Given the description of an element on the screen output the (x, y) to click on. 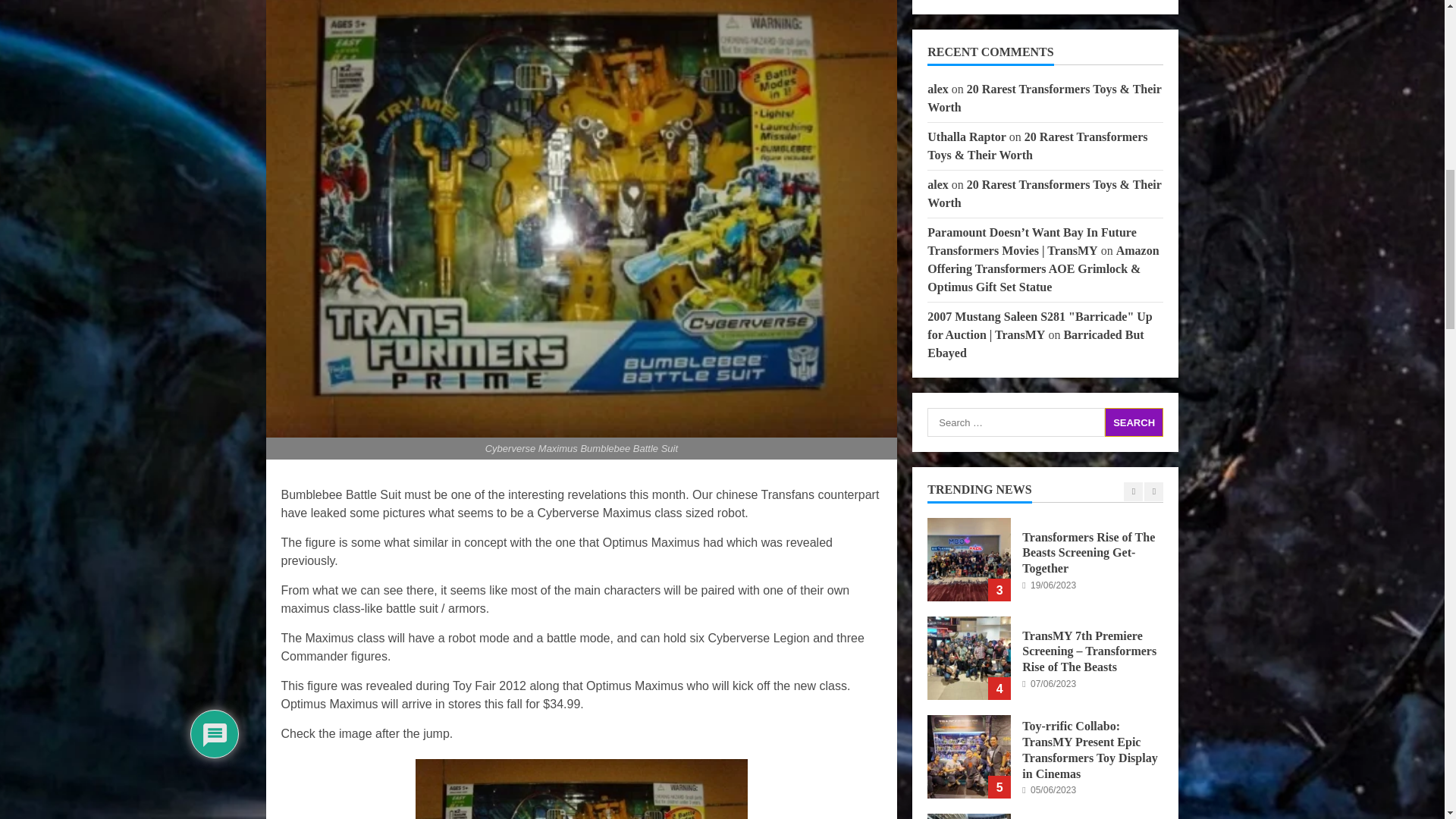
Search (1134, 421)
Cyberverse Maximus Bumblebee Battle Suit (580, 789)
Search (1134, 421)
